Given the description of an element on the screen output the (x, y) to click on. 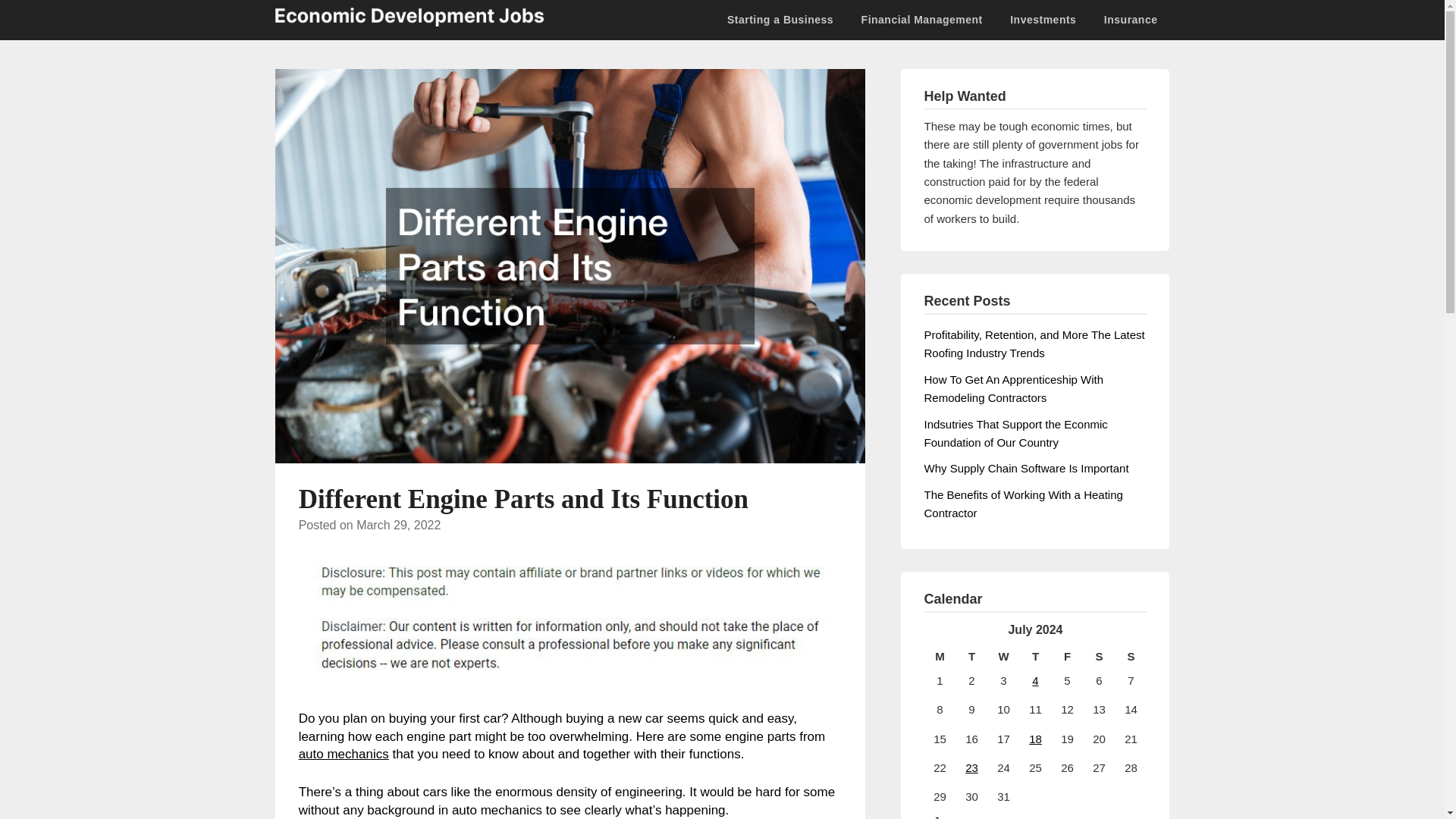
23 (971, 767)
Why Supply Chain Software Is Important (1025, 468)
Sunday (1131, 656)
March 29, 2022 (398, 524)
Monday (939, 656)
Thursday (1035, 656)
Financial Management (921, 20)
Saturday (1099, 656)
Insurance (1131, 20)
Tuesday (971, 656)
Wednesday (1003, 656)
18 (1035, 738)
Starting a Business (785, 20)
auto mechanics (343, 753)
